Given the description of an element on the screen output the (x, y) to click on. 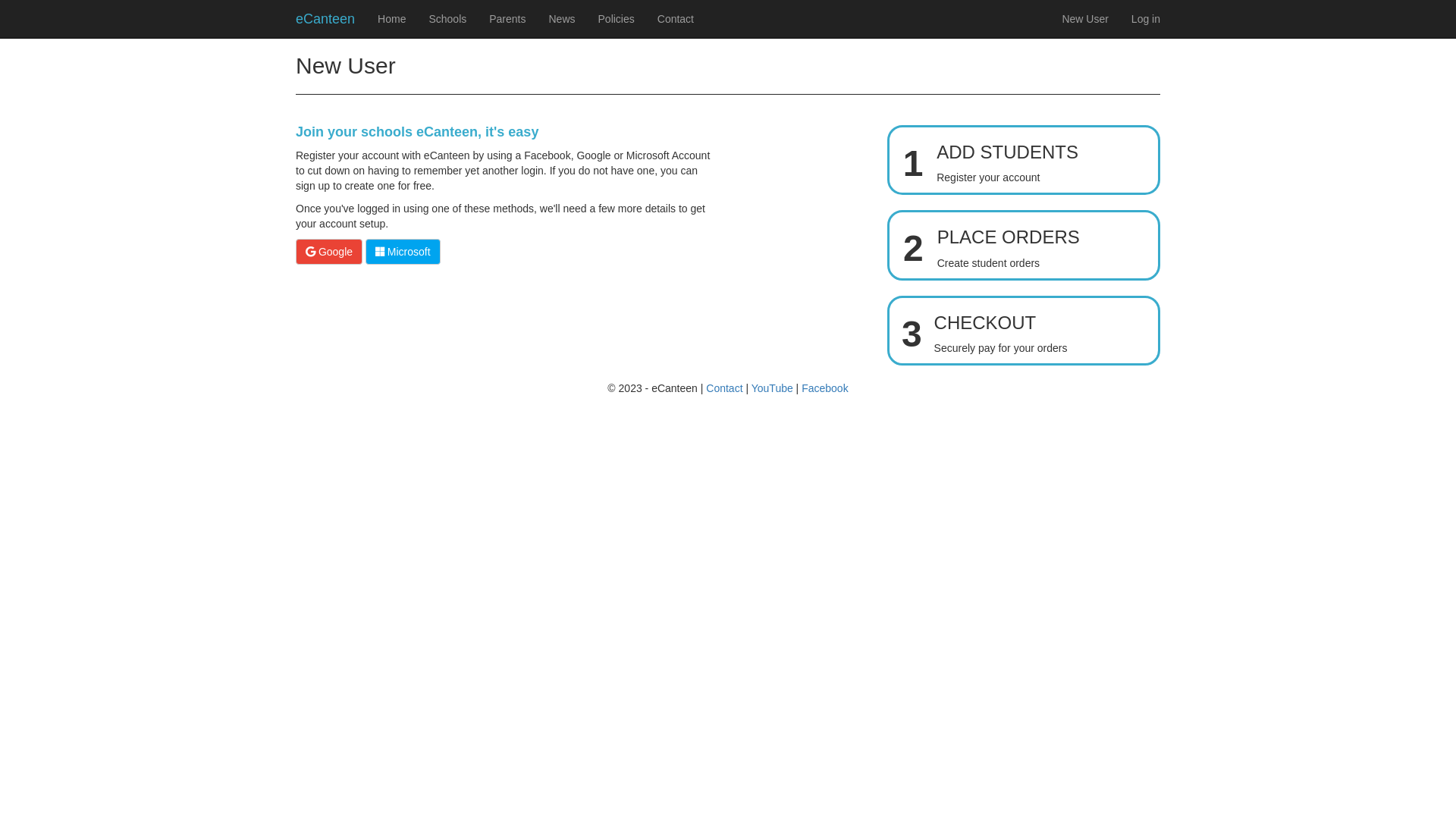
Microsoft Element type: text (402, 251)
Home Element type: text (391, 18)
Contact Element type: text (724, 388)
Schools Element type: text (447, 18)
Contact Element type: text (675, 18)
Facebook Element type: text (824, 388)
Policies Element type: text (616, 18)
Parents Element type: text (506, 18)
Log in Element type: text (1145, 18)
News Element type: text (561, 18)
eCanteen Element type: text (325, 18)
Google Element type: text (328, 251)
New User Element type: text (1084, 18)
YouTube Element type: text (772, 388)
